Given the description of an element on the screen output the (x, y) to click on. 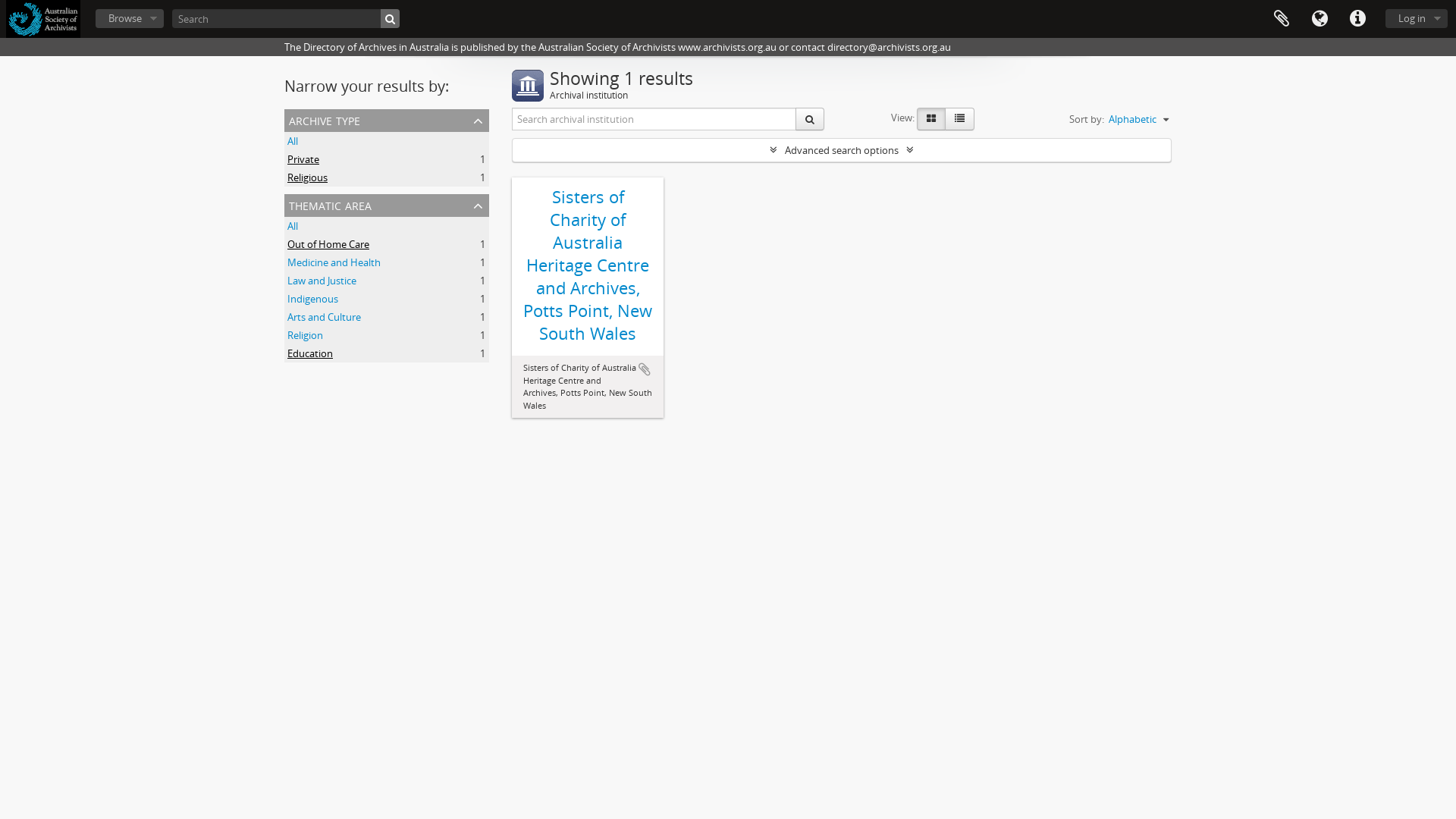
Medicine and Health Element type: text (333, 262)
Religious Element type: text (307, 177)
thematic area Element type: text (386, 205)
Arts and Culture Element type: text (323, 316)
Out of Home Care Element type: text (328, 244)
archive type Element type: text (386, 120)
Law and Justice Element type: text (321, 280)
Clipboard Element type: text (1281, 18)
Advanced search options Element type: text (841, 149)
Private Element type: text (303, 159)
Religion Element type: text (305, 335)
Add to clipboard Element type: text (644, 368)
Education Element type: text (309, 353)
All Element type: text (292, 225)
All Element type: text (292, 140)
Browse Element type: text (129, 18)
  Element type: hover (930, 118)
Log in Element type: text (1416, 18)
Indigenous Element type: text (312, 298)
  Element type: hover (959, 118)
Language Element type: text (1319, 18)
Quick links Element type: text (1357, 18)
